Given the description of an element on the screen output the (x, y) to click on. 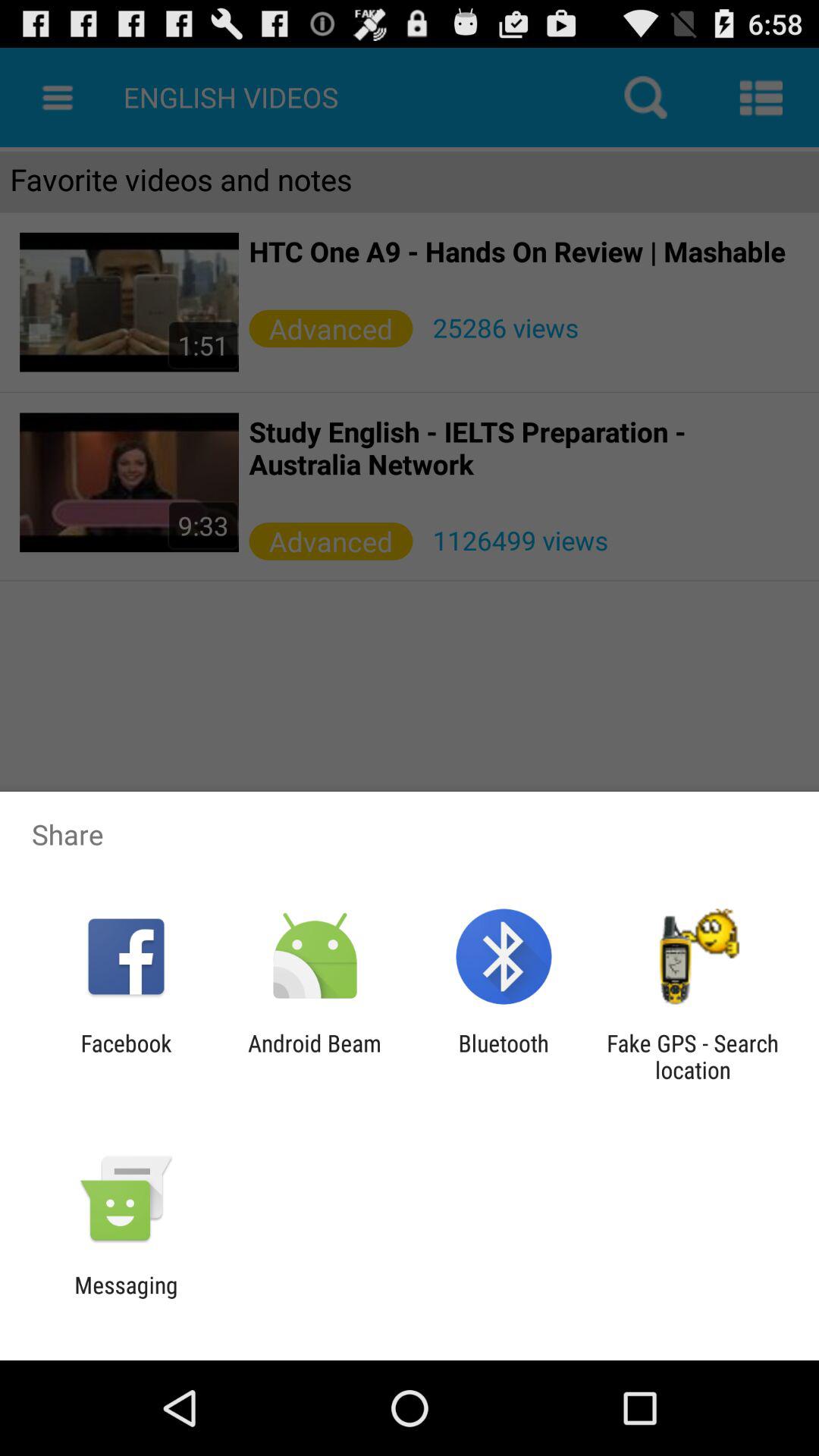
choose the app to the right of the bluetooth (692, 1056)
